Given the description of an element on the screen output the (x, y) to click on. 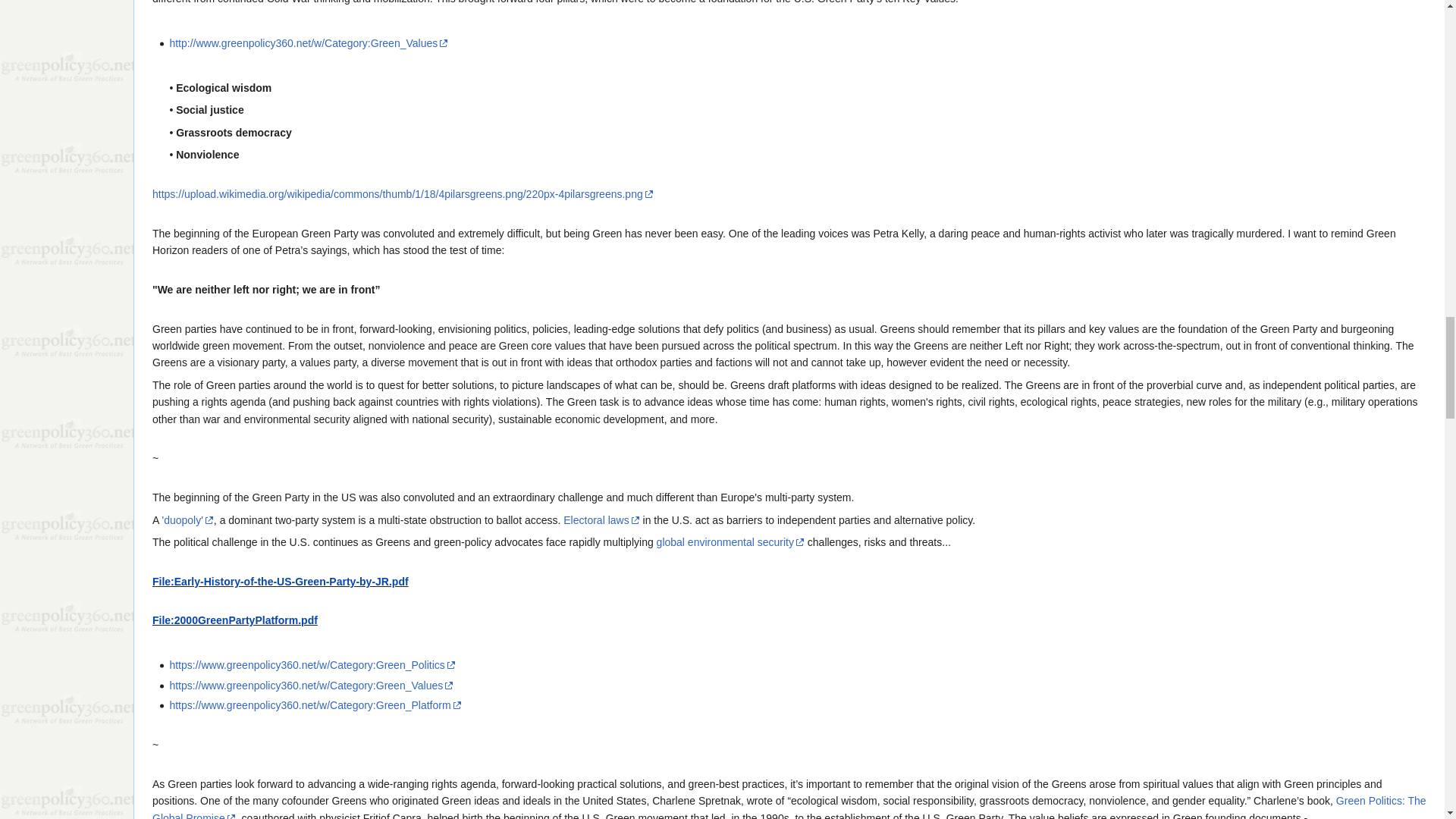
File:Early-History-of-the-US-Green-Party-by-JR.pdf (280, 581)
Green Politics: The Global Promise (789, 806)
File:2000GreenPartyPlatform.pdf (234, 620)
global environmental security (730, 541)
File:Early-History-of-the-US-Green-Party-by-JR.pdf (280, 581)
File:2000GreenPartyPlatform.pdf (234, 620)
Electoral laws (601, 520)
'duopoly' (186, 520)
